Given the description of an element on the screen output the (x, y) to click on. 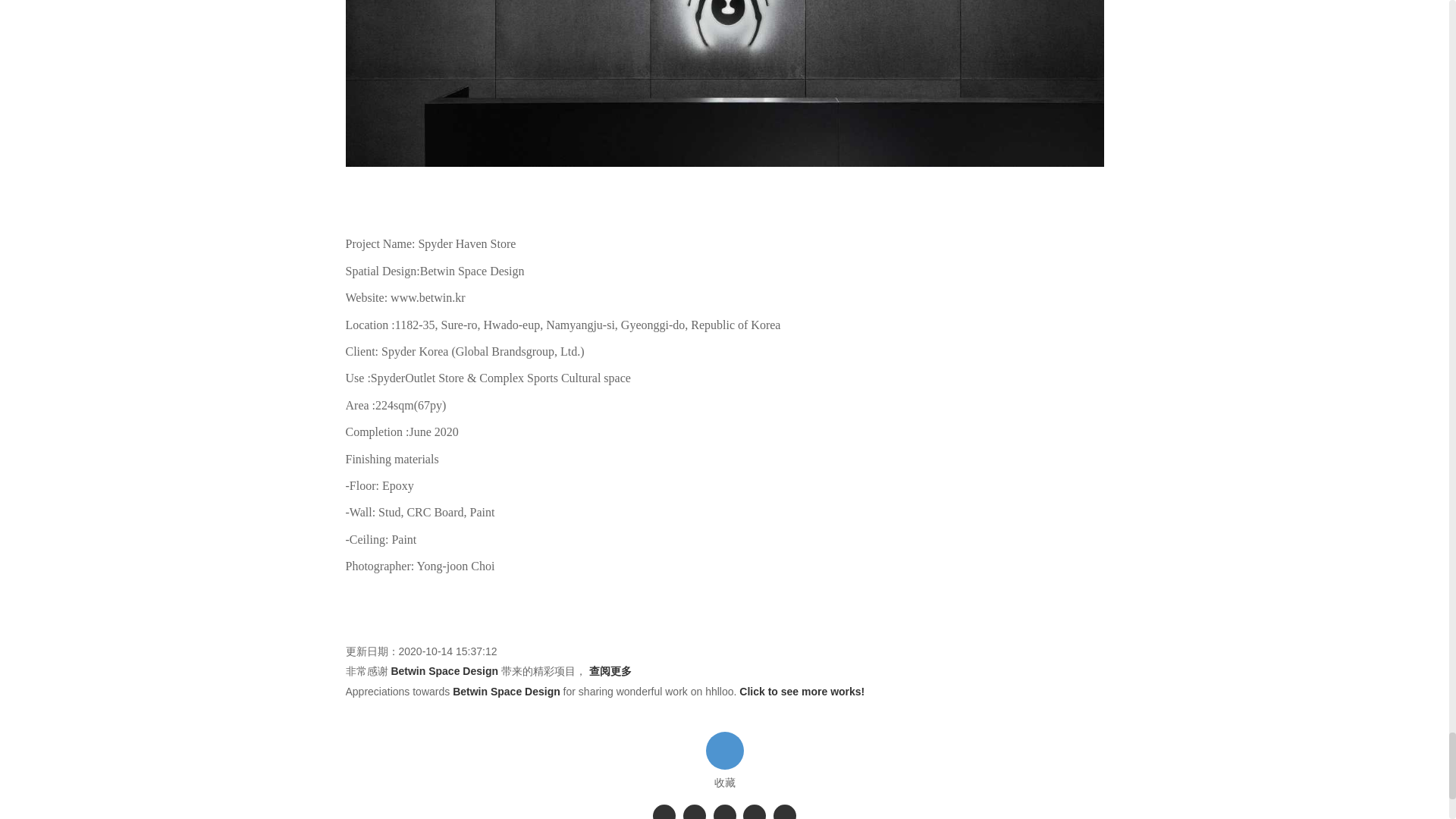
Betwin Space Design (506, 691)
Click to see more works! (801, 691)
Betwin Space Design (443, 671)
